Given the description of an element on the screen output the (x, y) to click on. 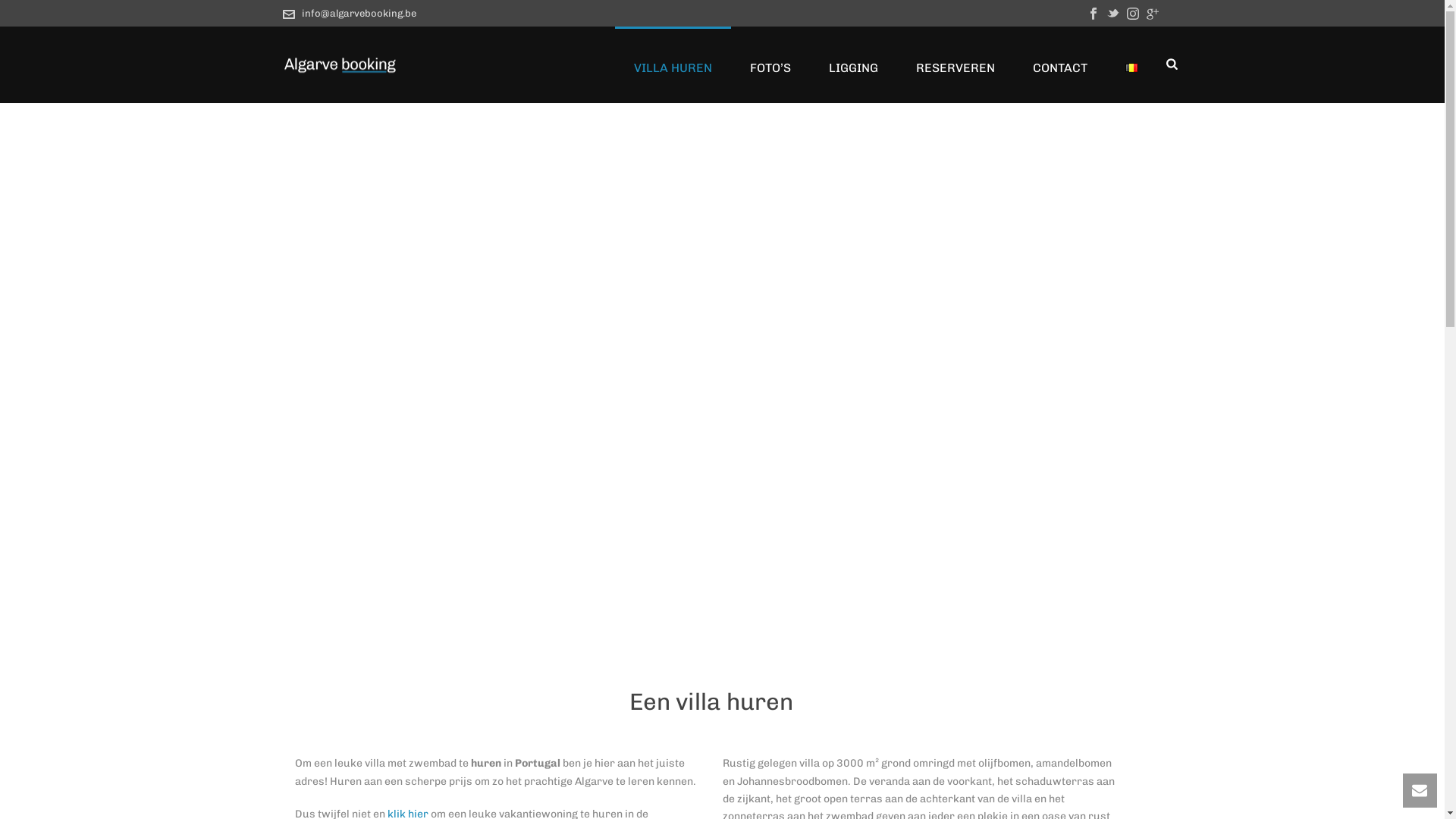
info@algarvebooking.be Element type: text (358, 12)
Vakantievilla huren in de Algarve Element type: hover (338, 64)
CONTACT Element type: text (1059, 64)
VILLA HUREN Element type: text (673, 64)
RESERVEREN Element type: text (955, 64)
LIGGING Element type: text (853, 64)
